Given the description of an element on the screen output the (x, y) to click on. 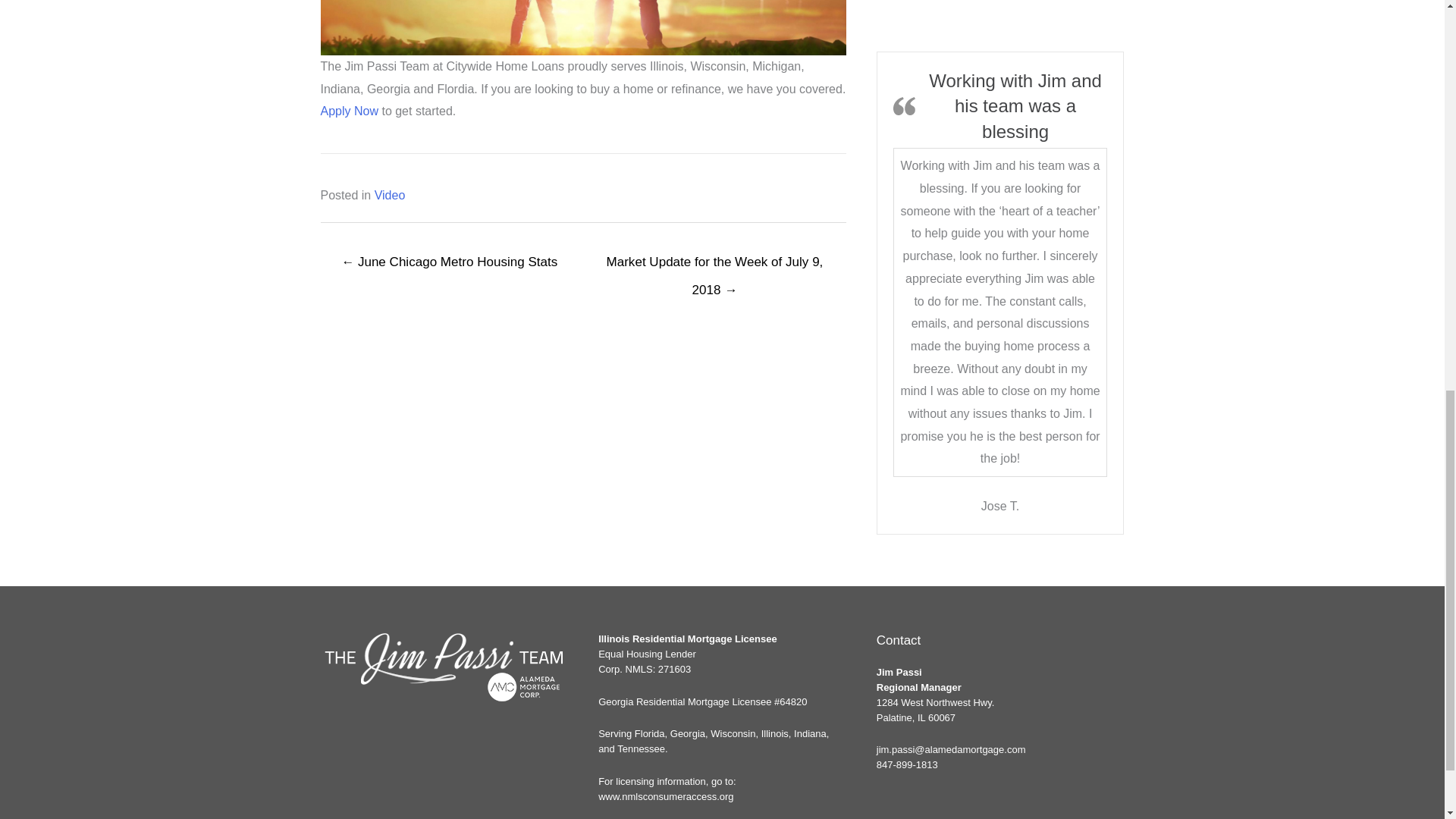
logo-jim-passi-team-white (443, 667)
Working with Jim and his team was a blessing (1015, 105)
Apply Now (348, 110)
847-899-1813 (906, 764)
www.nmlsconsumeraccess.org (665, 796)
Video (390, 195)
